Given the description of an element on the screen output the (x, y) to click on. 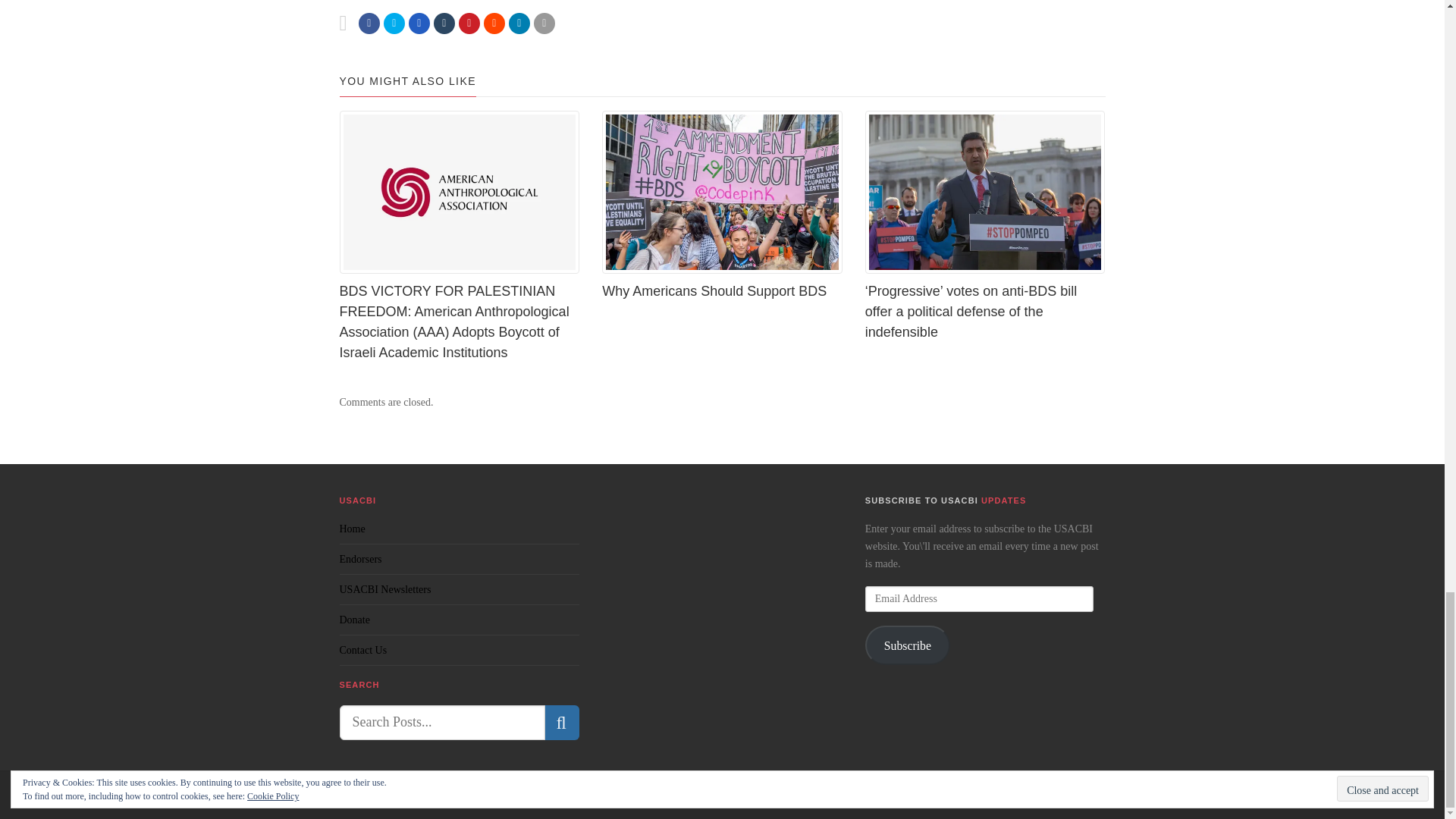
Share on Facebook (369, 23)
Submit to Reddit (494, 23)
Tweet (394, 23)
Post to Tumblr (443, 23)
Pin it (469, 23)
